Given the description of an element on the screen output the (x, y) to click on. 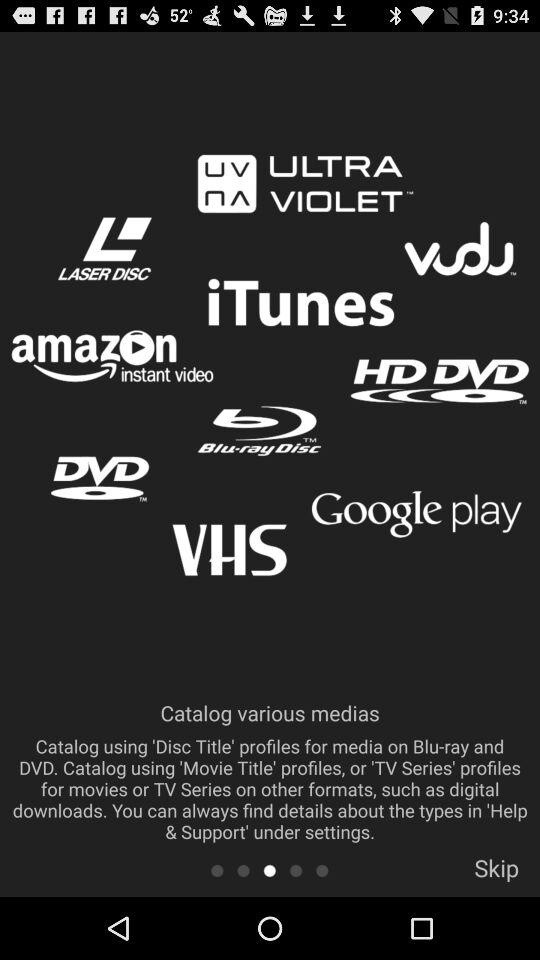
go to next screen (295, 870)
